Given the description of an element on the screen output the (x, y) to click on. 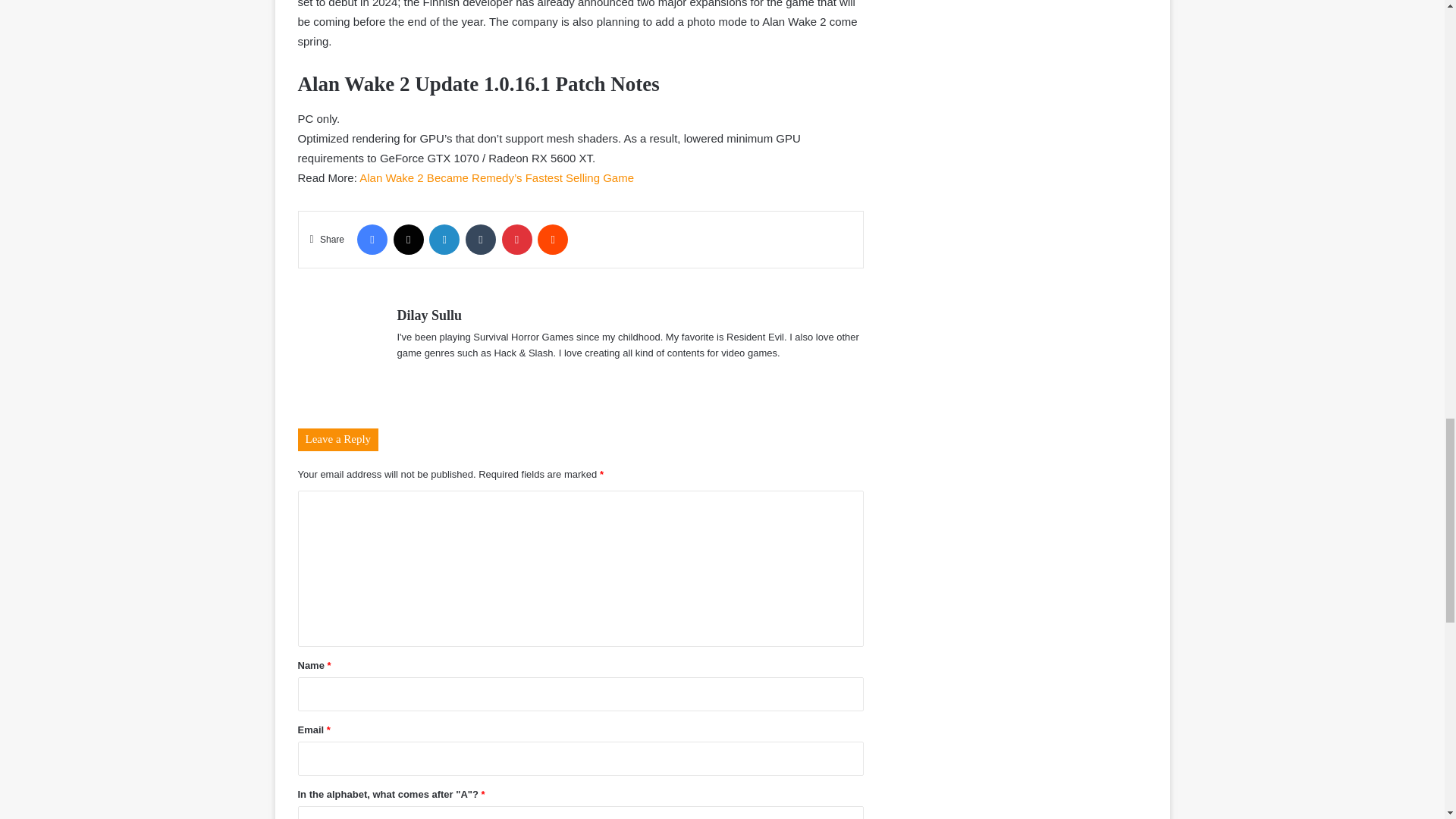
LinkedIn (444, 239)
X (408, 239)
Tumblr (480, 239)
Reddit (552, 239)
Pinterest (517, 239)
Facebook (371, 239)
